Given the description of an element on the screen output the (x, y) to click on. 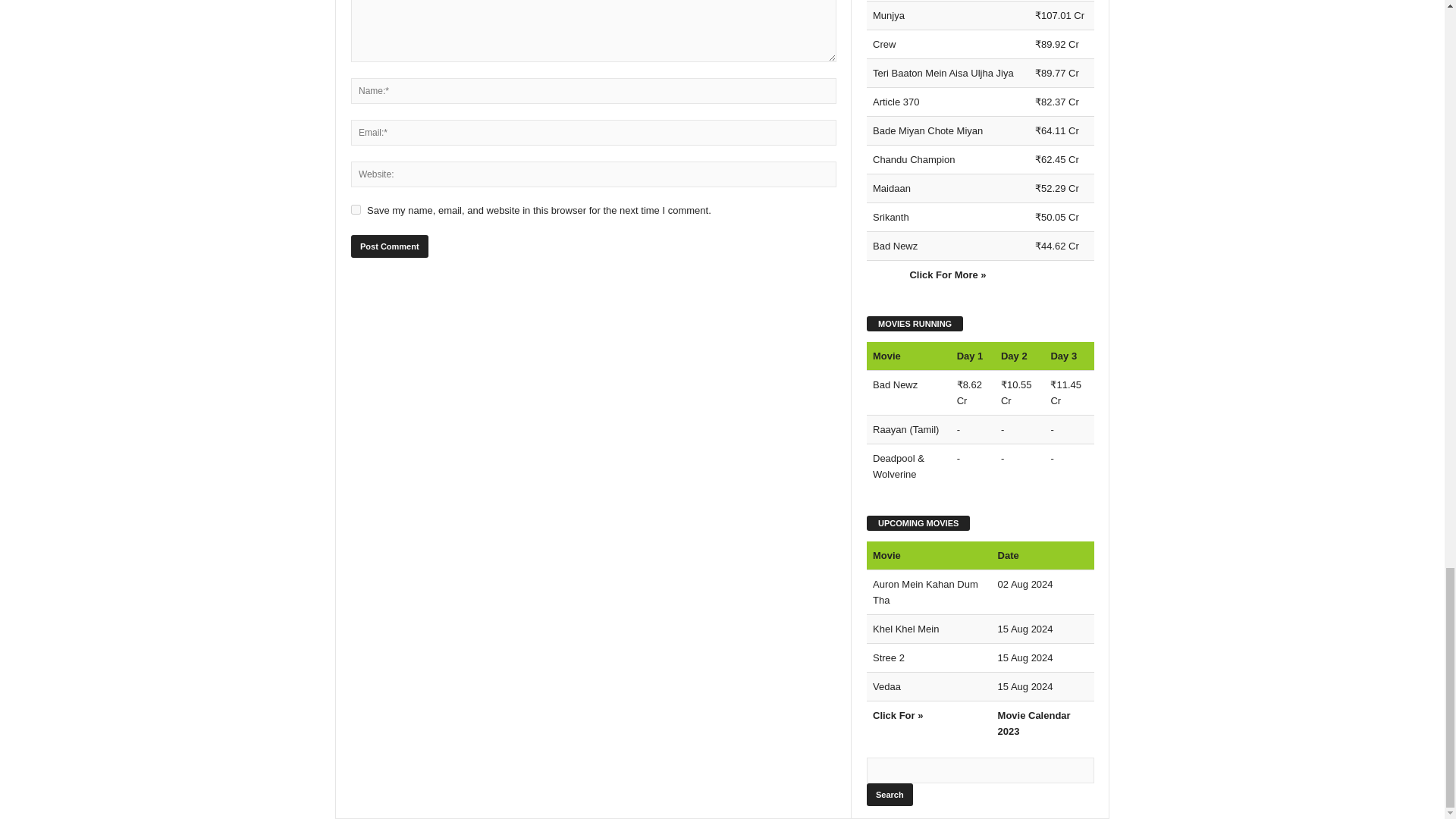
yes (355, 209)
Post Comment (389, 246)
Search (889, 793)
